Given the description of an element on the screen output the (x, y) to click on. 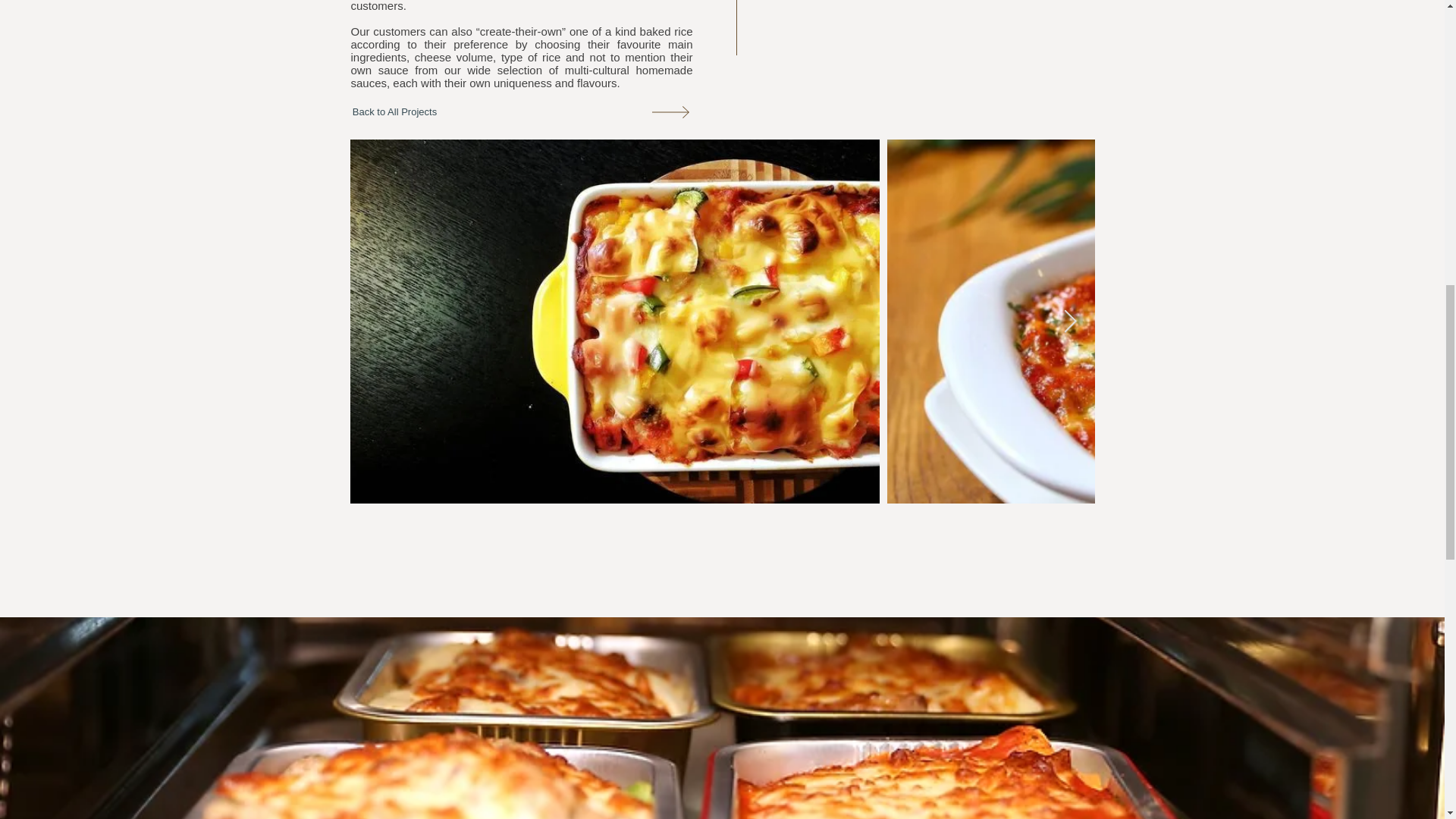
Back to All Projects (394, 112)
